Given the description of an element on the screen output the (x, y) to click on. 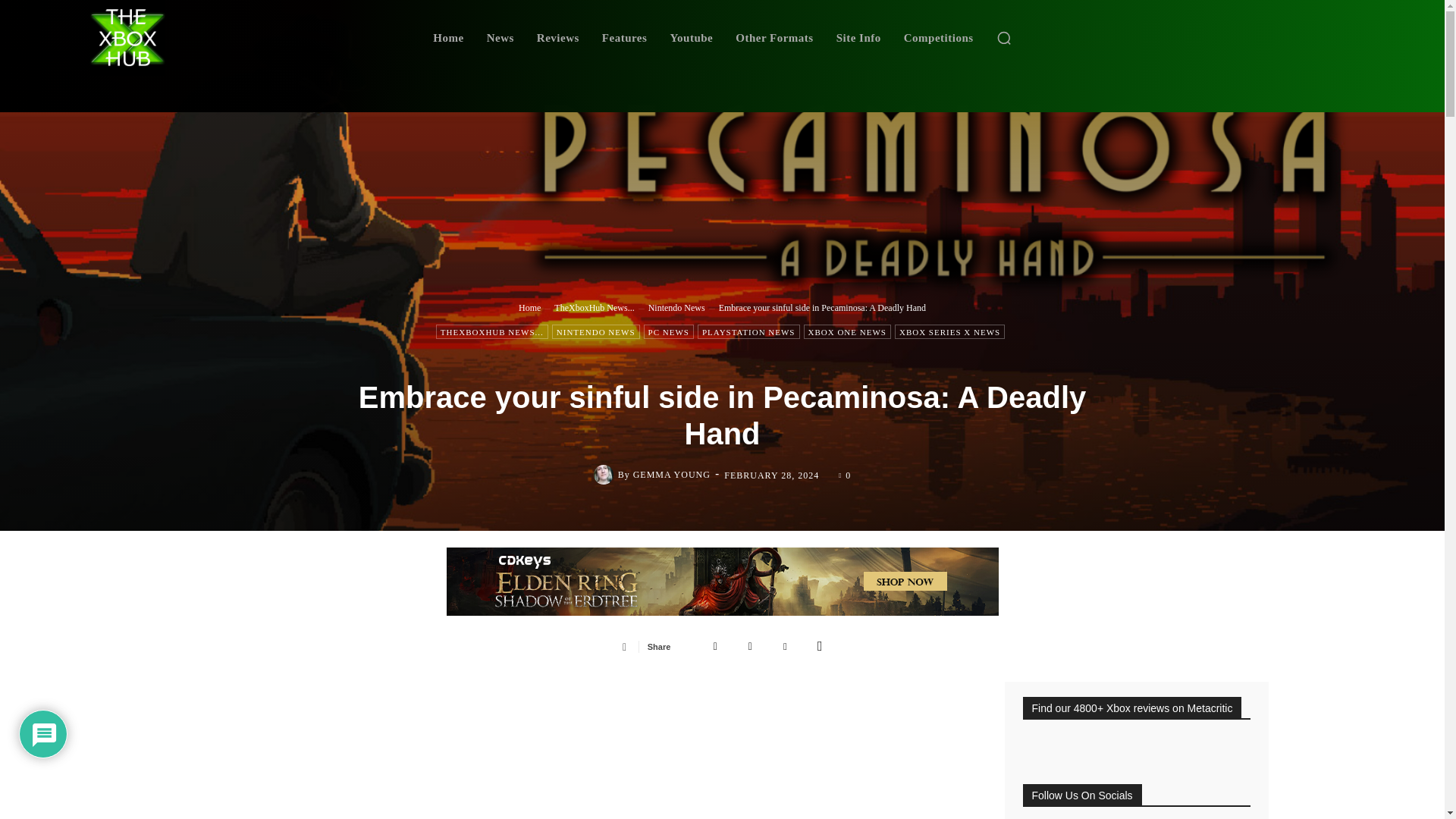
View all posts in Nintendo News (675, 307)
Twitter (750, 645)
Gemma Young (605, 474)
Facebook (715, 645)
View all posts in TheXboxHub News... (593, 307)
